Given the description of an element on the screen output the (x, y) to click on. 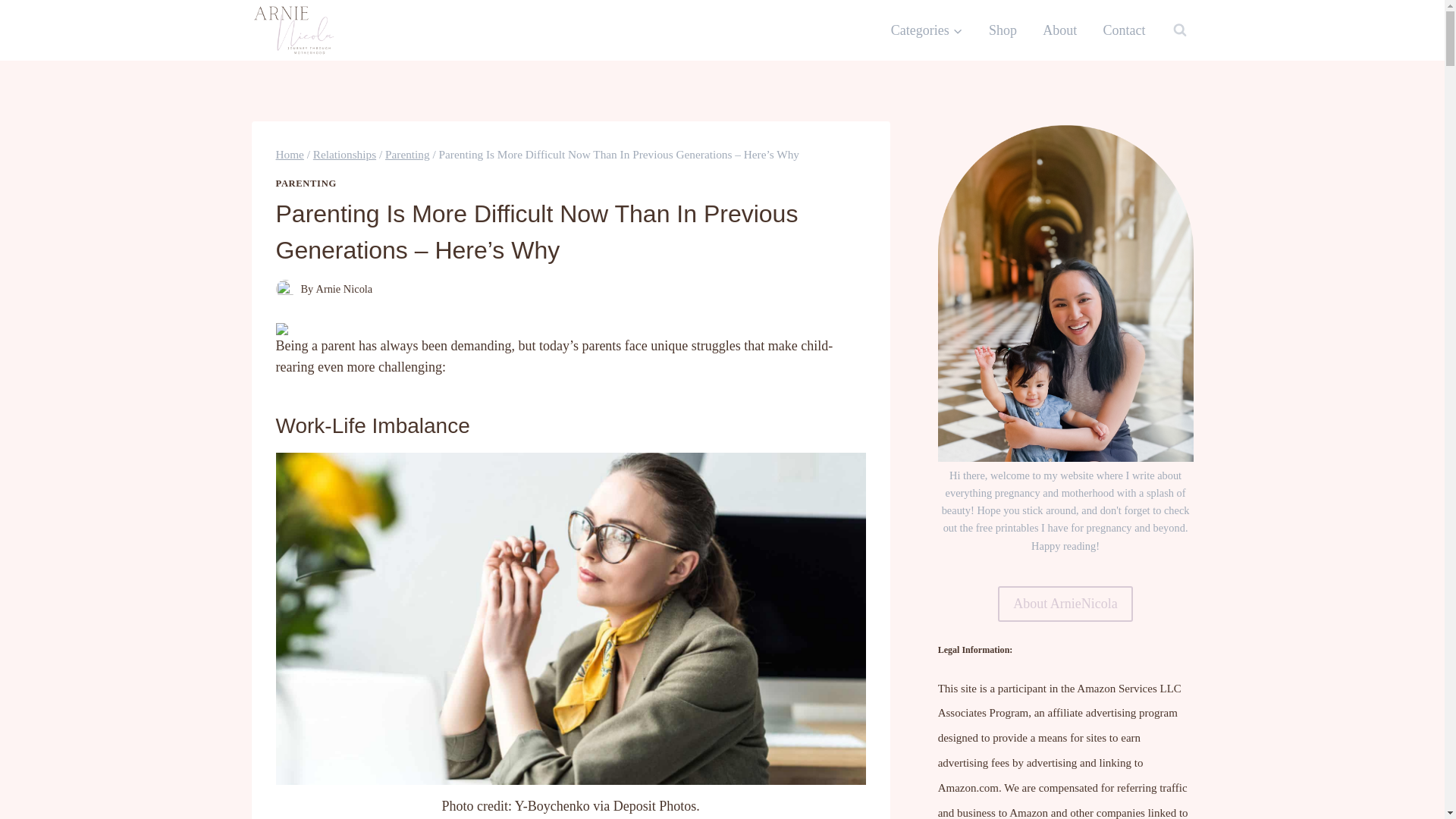
Categories (926, 30)
Contact (1123, 30)
About (1059, 30)
Shop (1002, 30)
Home (290, 154)
